Given the description of an element on the screen output the (x, y) to click on. 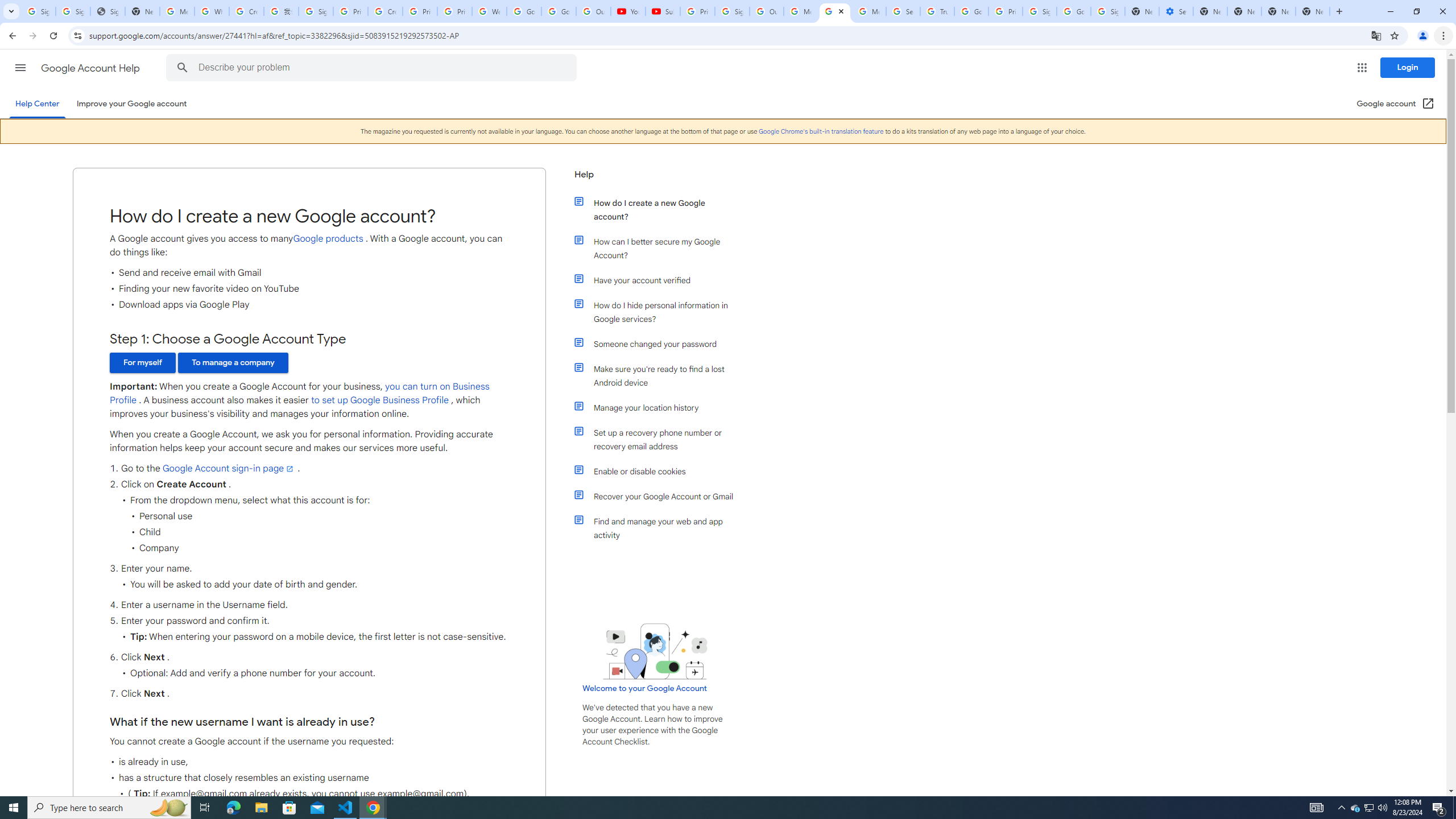
Make sure you're ready to find a lost Android device (661, 375)
Forward (32, 35)
How do I hide personal information in Google services? (661, 312)
Settings - Performance (1176, 11)
Search the Help Center (181, 67)
Close (840, 11)
Create your Google Account (384, 11)
Main menu (20, 67)
New Tab (1338, 11)
Describe your problem (373, 67)
